Given the description of an element on the screen output the (x, y) to click on. 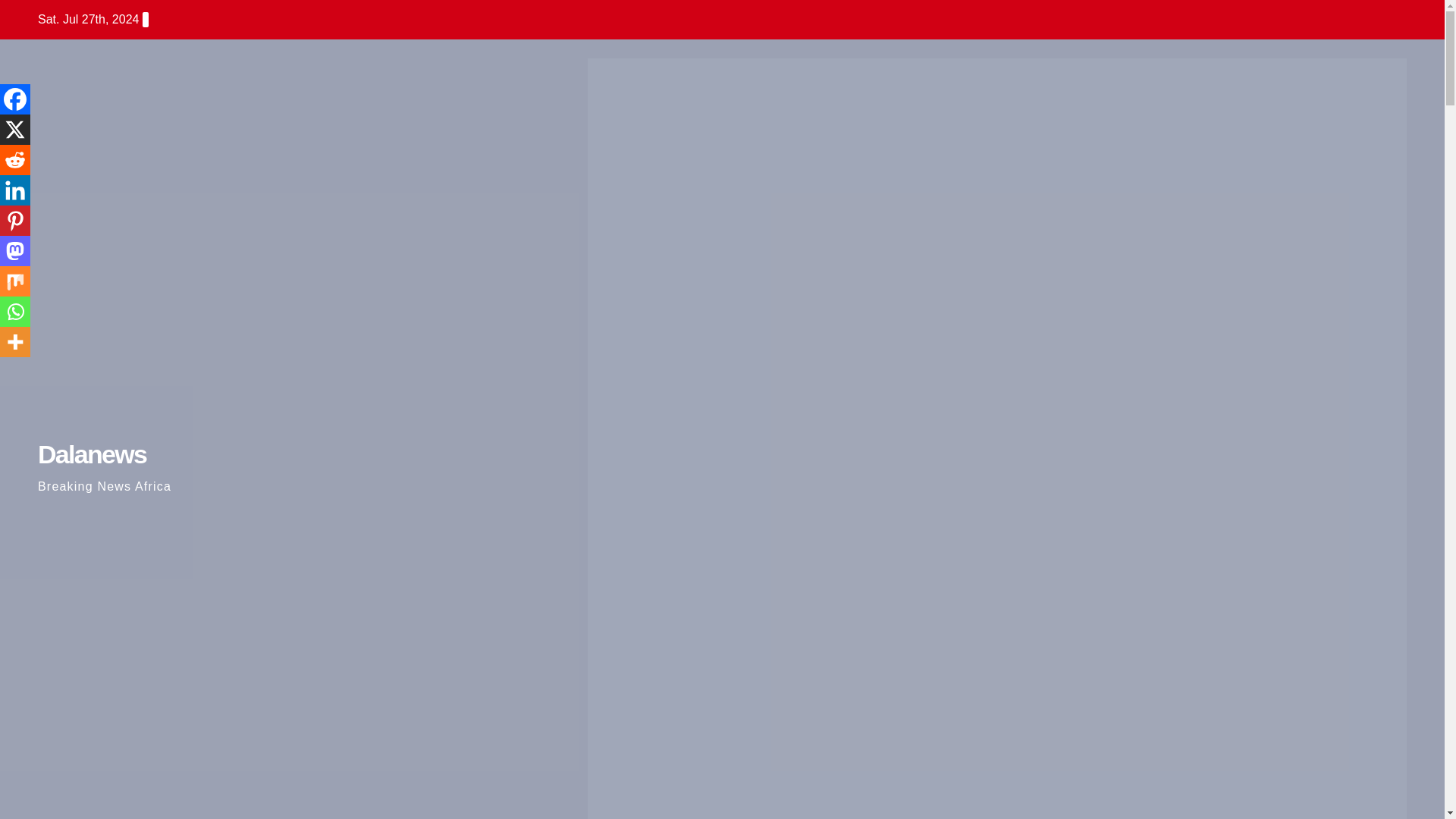
Reddit (15, 159)
Facebook (15, 99)
Dalanews (92, 453)
Linkedin (15, 190)
X (15, 129)
